Given the description of an element on the screen output the (x, y) to click on. 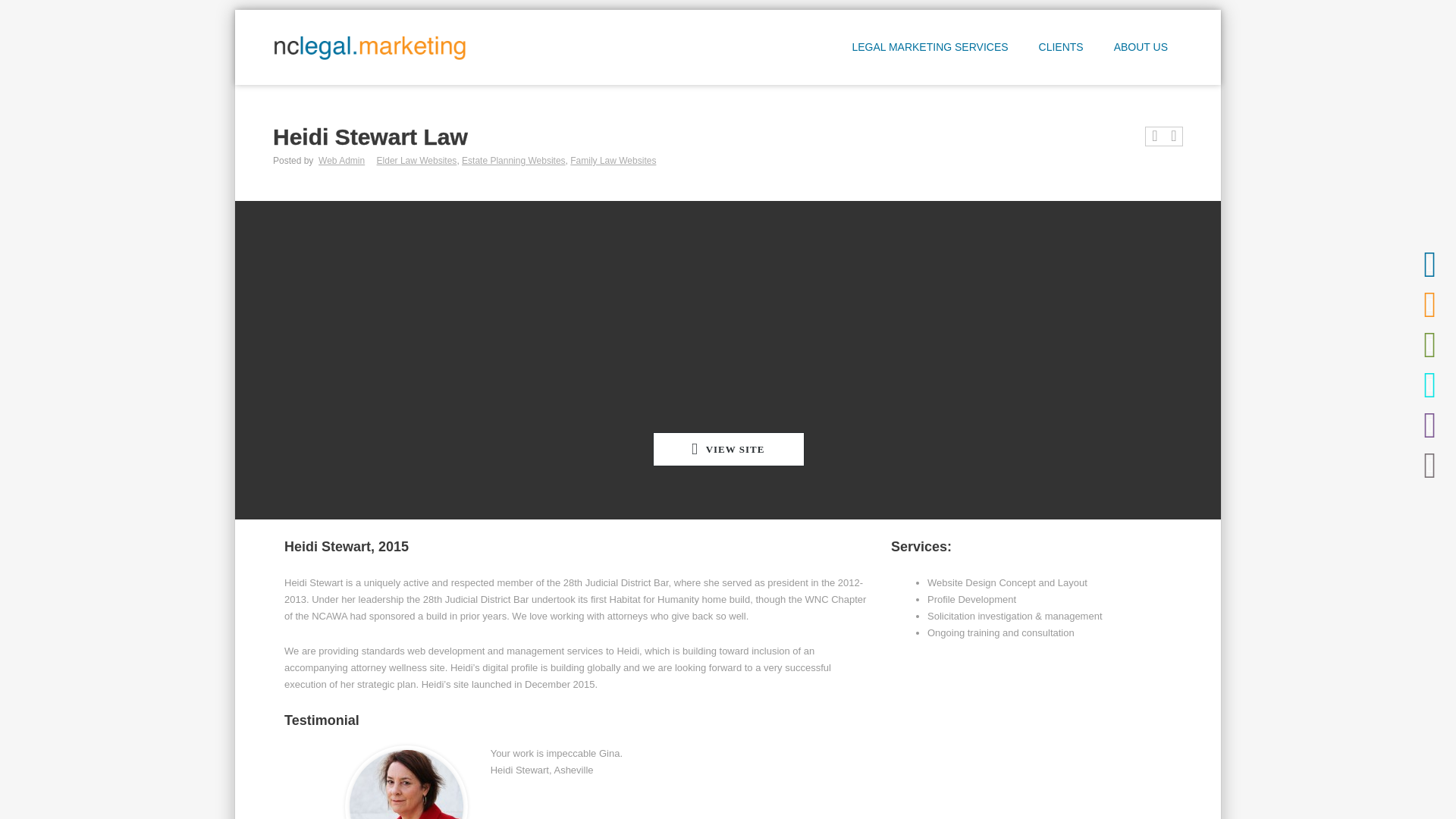
LEGAL MARKETING SERVICES (929, 49)
NC Legal Marketing (369, 46)
ABOUT US (1140, 49)
View all posts by Web Admin (341, 160)
Elder Law Websites (417, 160)
Web Admin (341, 160)
VIEW SITE (728, 449)
CLIENTS (1061, 49)
Estate Planning Websites (513, 160)
Family Law Websites (613, 160)
